Given the description of an element on the screen output the (x, y) to click on. 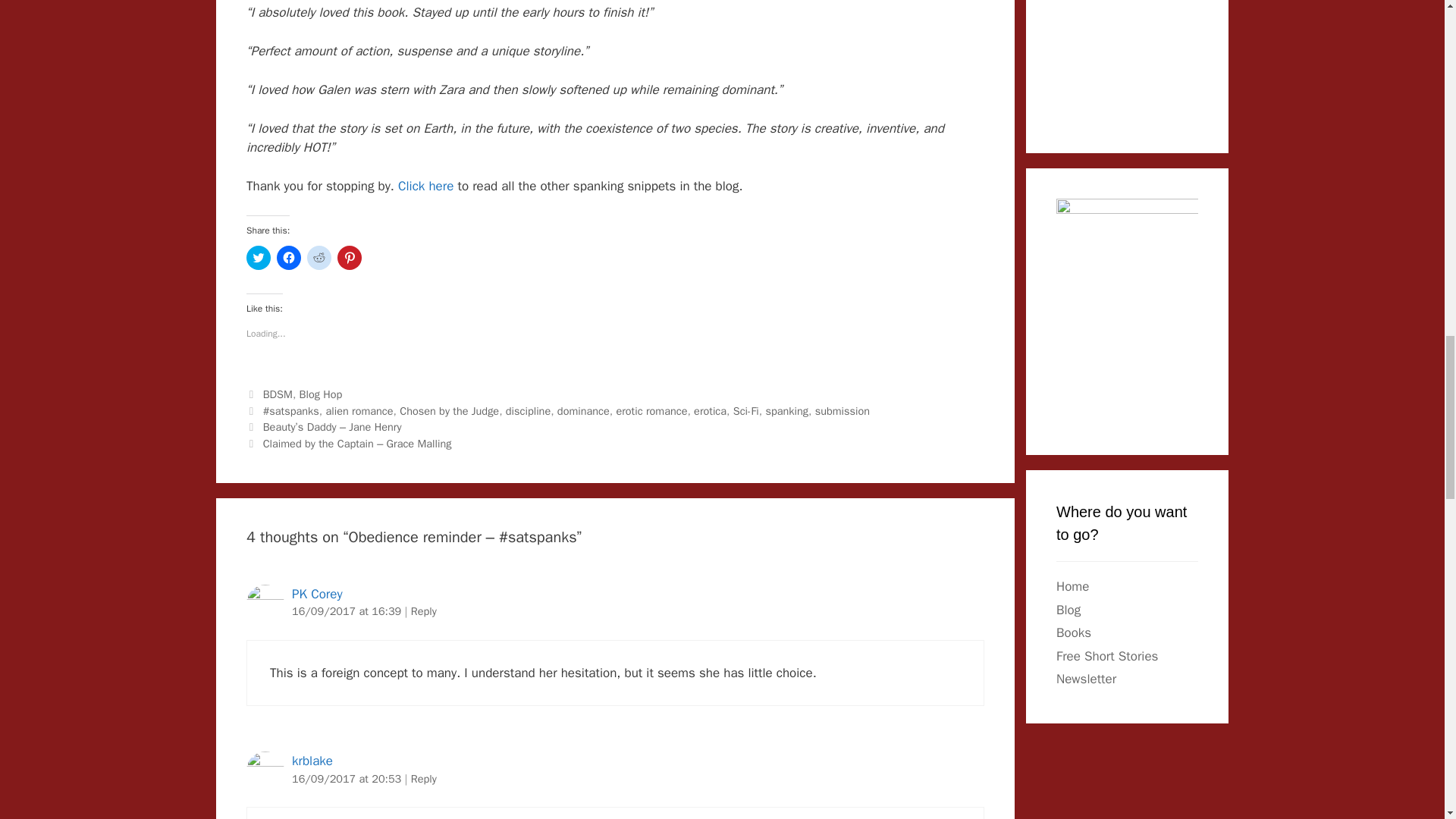
Click to share on Pinterest (349, 257)
Click to share on Facebook (288, 257)
Click to share on Reddit (319, 257)
Previous (323, 427)
Click to share on Twitter (258, 257)
Next (348, 443)
